Given the description of an element on the screen output the (x, y) to click on. 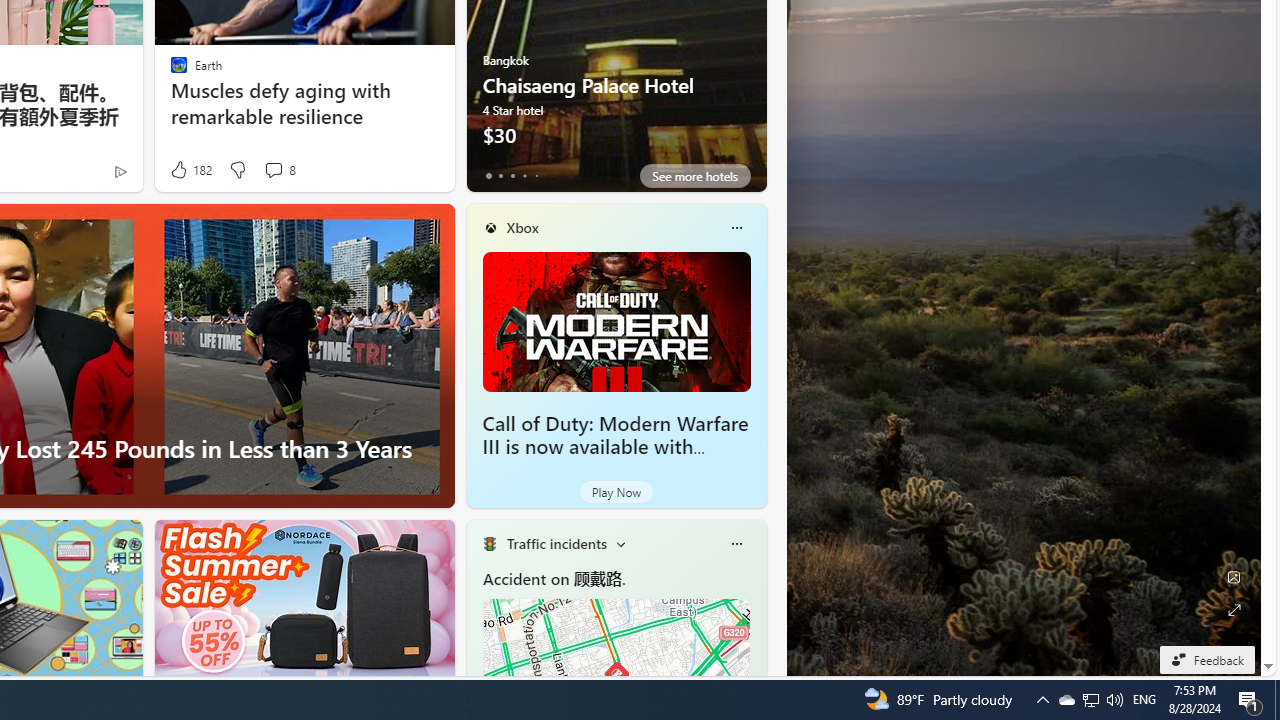
More options (736, 543)
View comments 8 Comment (273, 169)
Xbox (521, 227)
Change scenarios (620, 543)
Feedback (1206, 659)
tab-0 (488, 175)
Dislike (237, 170)
tab-4 (535, 175)
Traffic Title Traffic Light (489, 543)
Traffic incidents (555, 543)
Class: icon-img (736, 543)
